Given the description of an element on the screen output the (x, y) to click on. 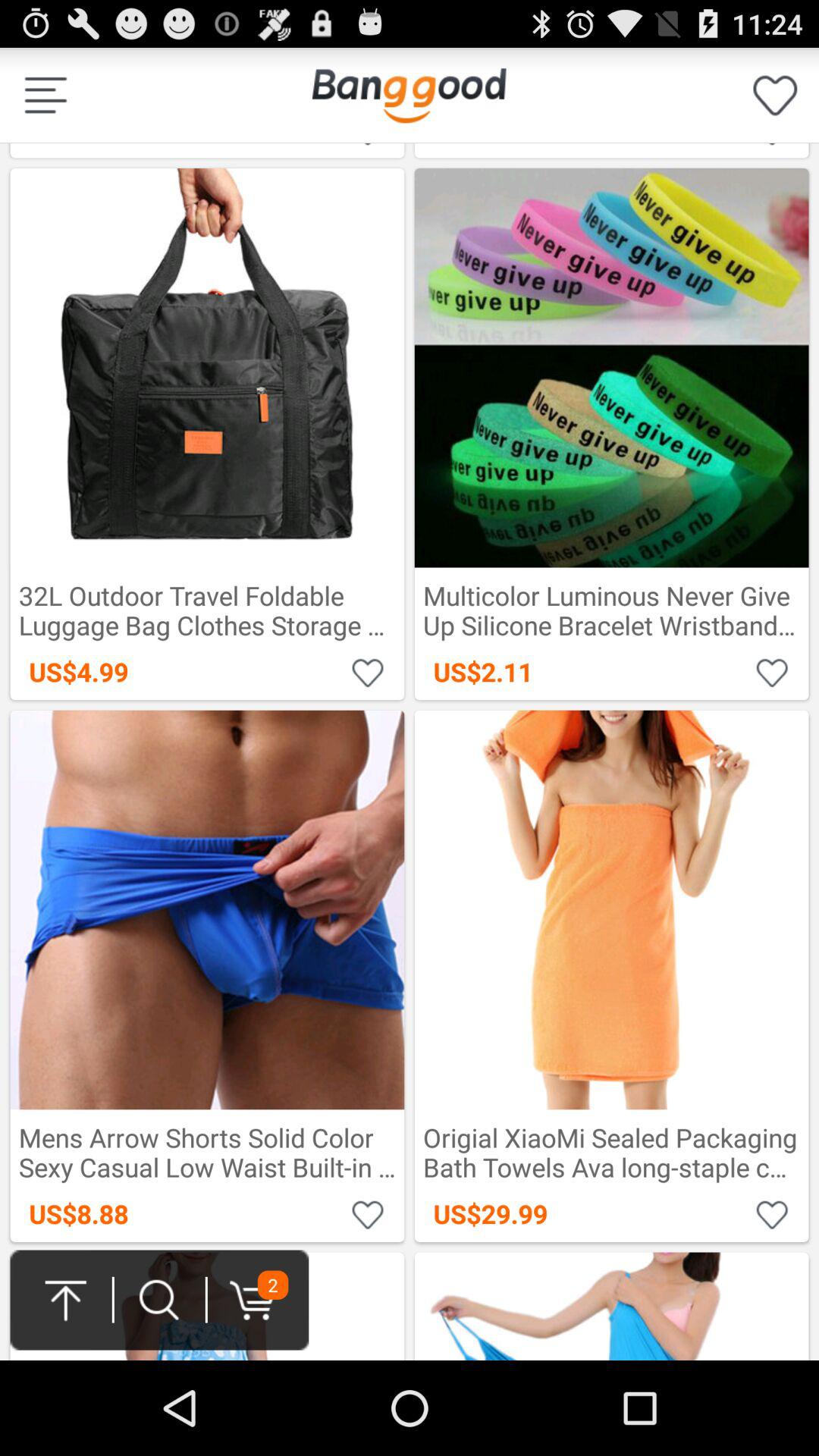
add to favorites (772, 671)
